Given the description of an element on the screen output the (x, y) to click on. 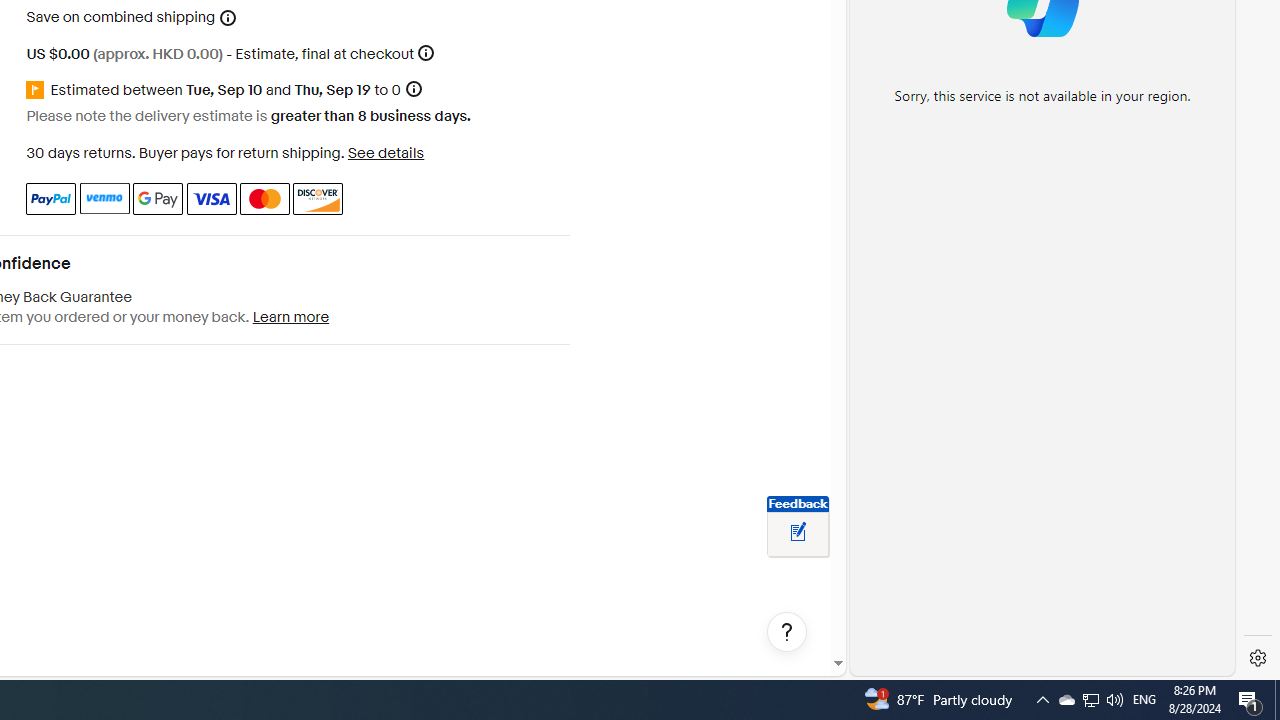
Master Card (264, 198)
Google Pay (158, 198)
PayPal (50, 198)
Help, opens dialogs (787, 632)
Delivery alert flag (38, 89)
Leave feedback about your eBay ViewItem experience (797, 533)
More information (426, 52)
Settings (1258, 658)
More information on Combined Shipping. Opens a layer. (228, 17)
See details - for more information about returns (385, 152)
Venmo (104, 198)
Visa (210, 198)
Information - Estimated delivery date - opens a layer (413, 89)
